Given the description of an element on the screen output the (x, y) to click on. 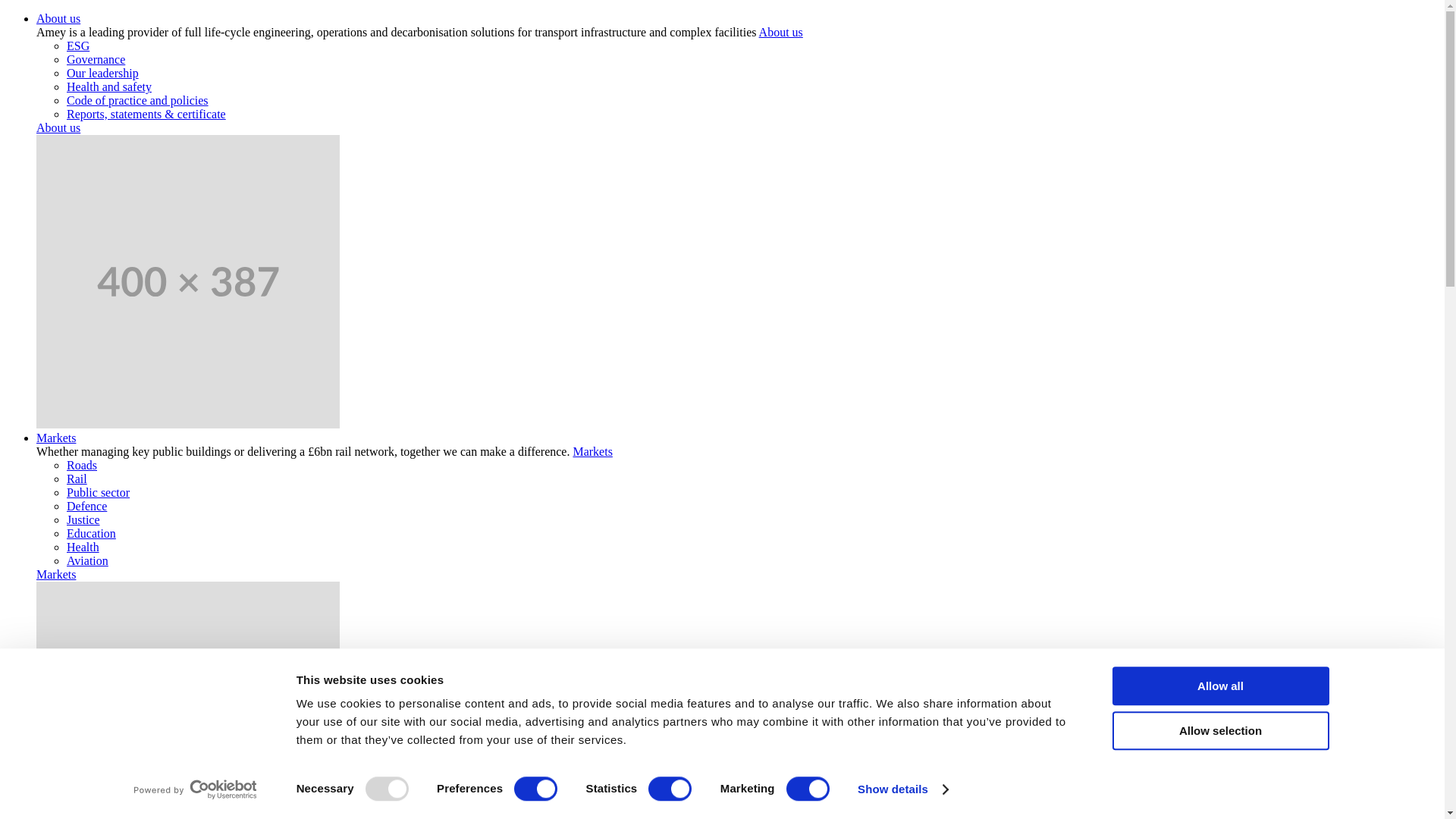
Show details (902, 789)
Search (221, 811)
